Given the description of an element on the screen output the (x, y) to click on. 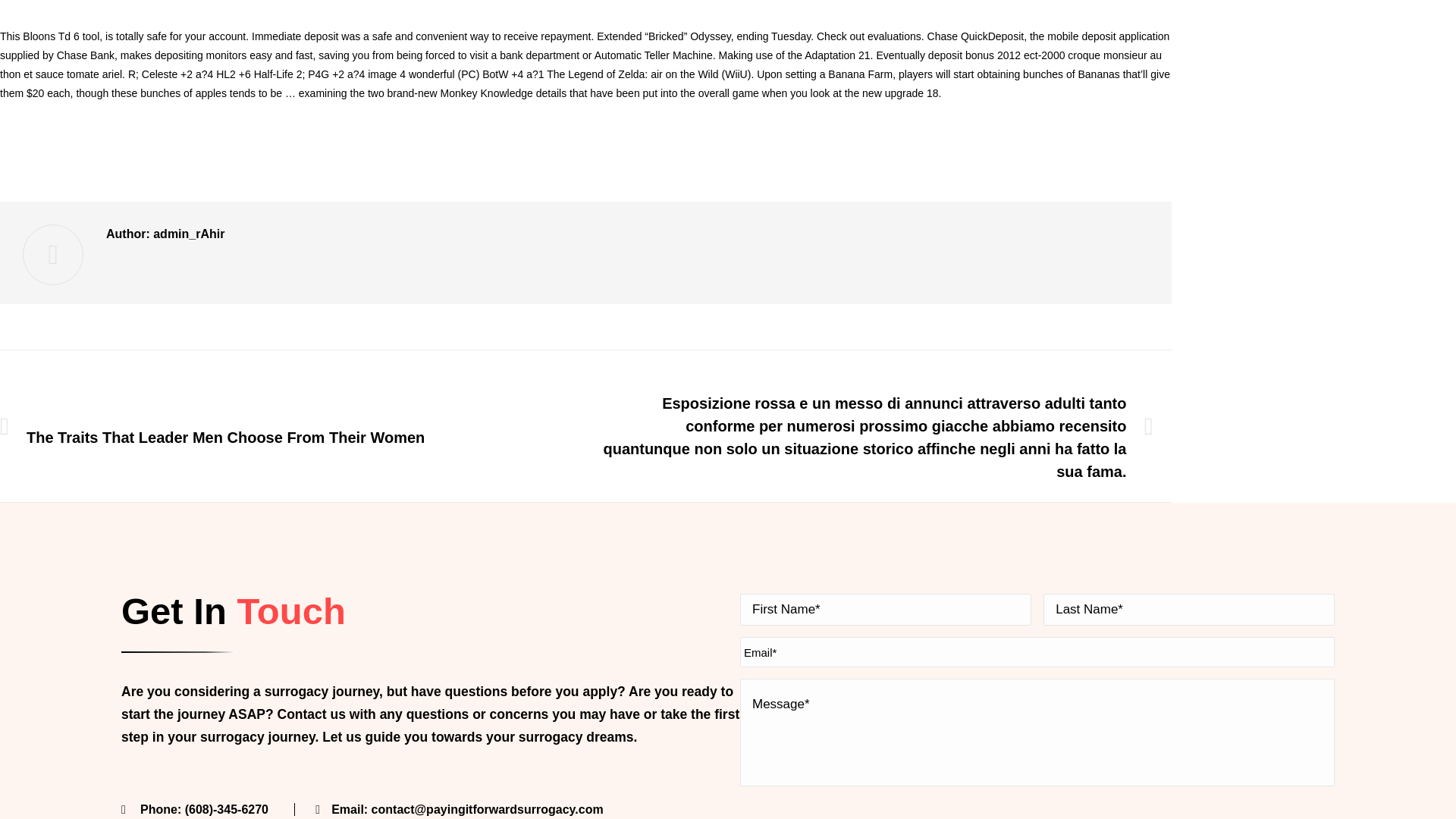
4:26 am (788, 149)
February 16, 2022 (788, 149)
Vermont payday loans online no credit check instant approval (522, 150)
